Given the description of an element on the screen output the (x, y) to click on. 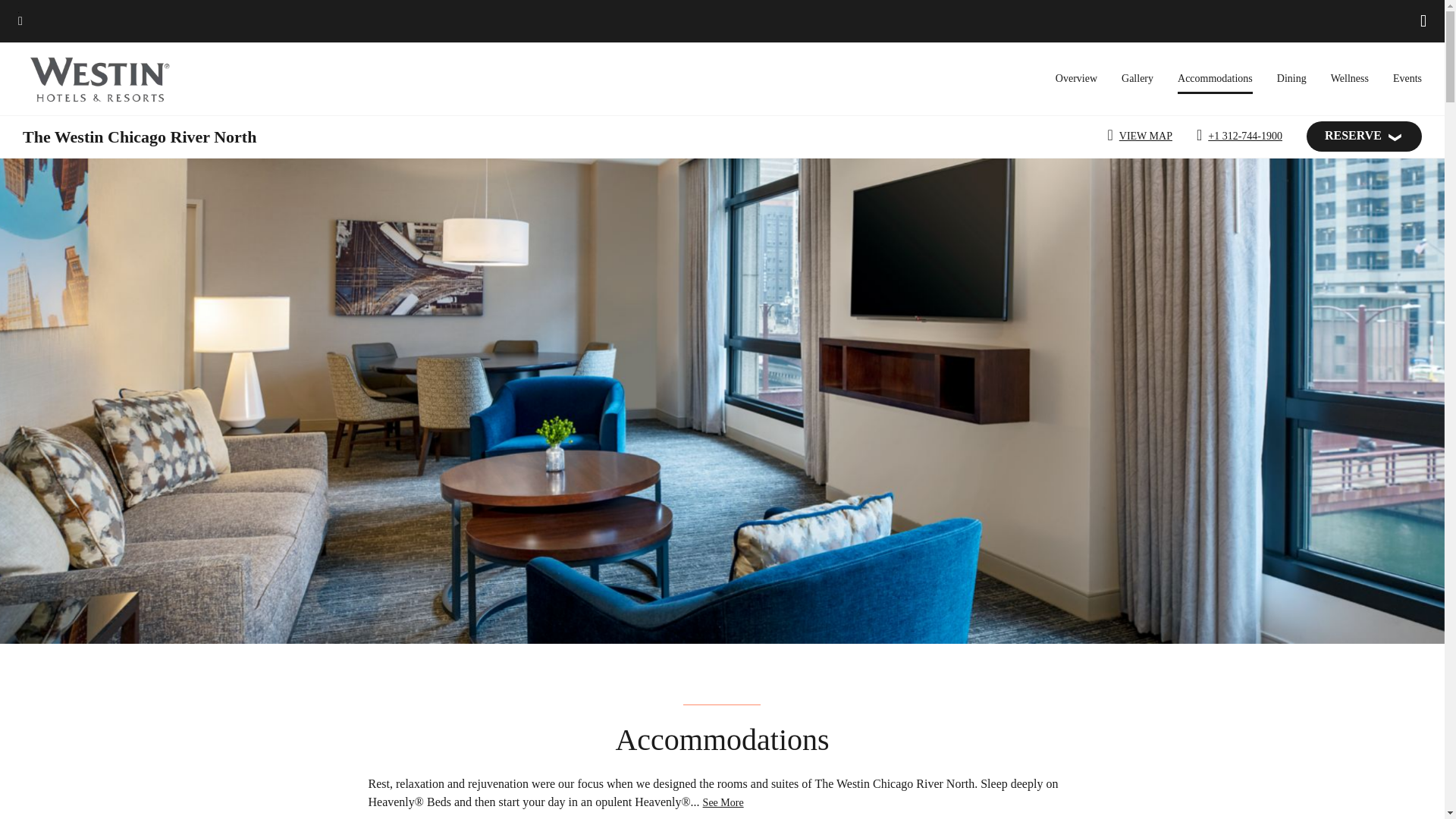
Dining (1291, 78)
VIEW MAP (1142, 136)
RESERVE (1364, 136)
Wellness (1349, 78)
Accommodations (1214, 83)
Gallery (1137, 78)
Events (1407, 78)
Overview (1076, 78)
